Given the description of an element on the screen output the (x, y) to click on. 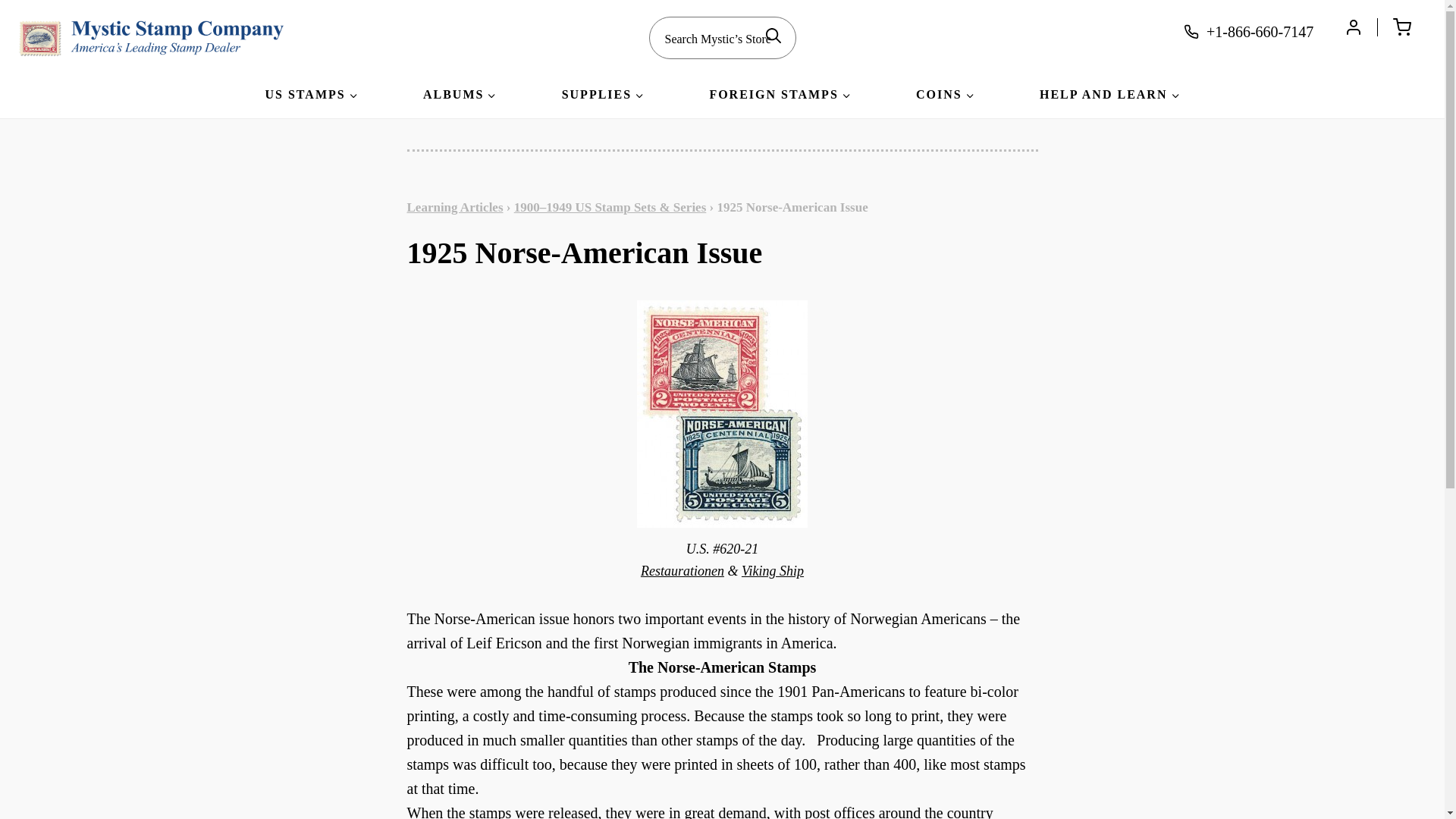
US STAMPS (311, 96)
SUPPLIES (603, 96)
ALBUMS (459, 96)
